Given the description of an element on the screen output the (x, y) to click on. 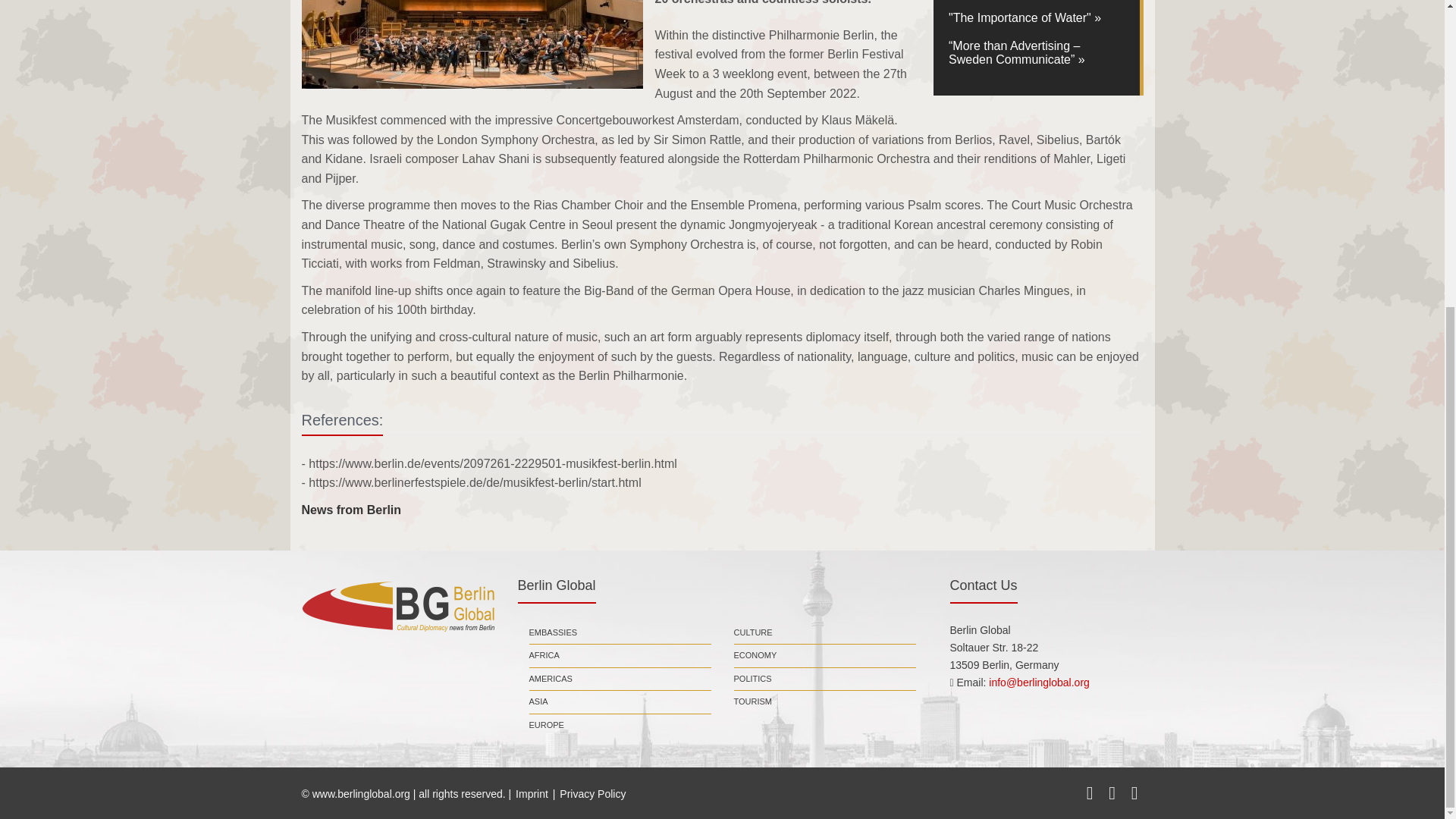
POLITICS (752, 679)
ECONOMY (755, 655)
TOURISM (753, 702)
CULTURE (753, 632)
Privacy Policy (592, 793)
Imprint (531, 793)
AMERICAS (550, 679)
AFRICA (544, 655)
EMBASSIES (553, 632)
EUROPE (546, 725)
